Given the description of an element on the screen output the (x, y) to click on. 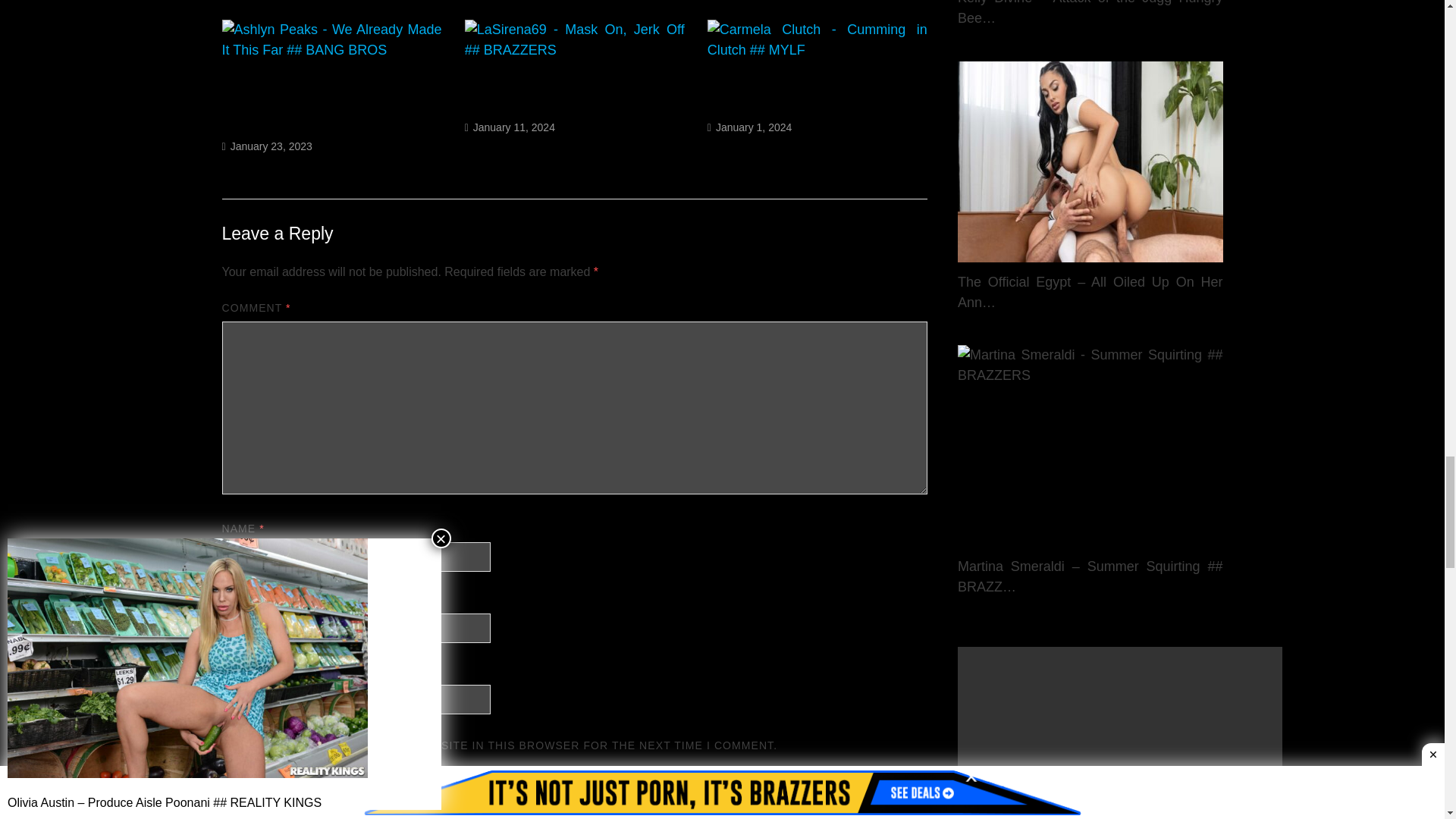
Post Comment (280, 791)
yes (226, 744)
